Given the description of an element on the screen output the (x, y) to click on. 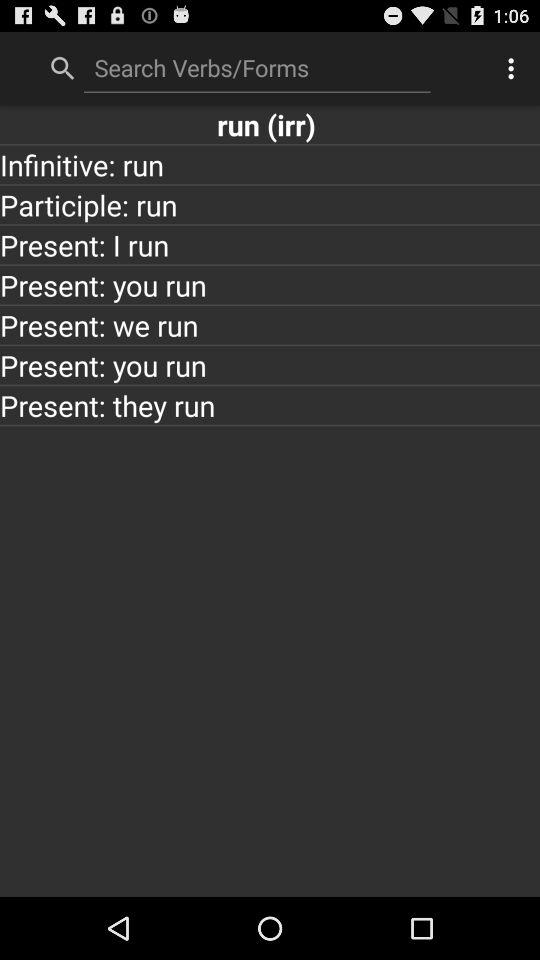
tap the item at the top right corner (513, 67)
